Given the description of an element on the screen output the (x, y) to click on. 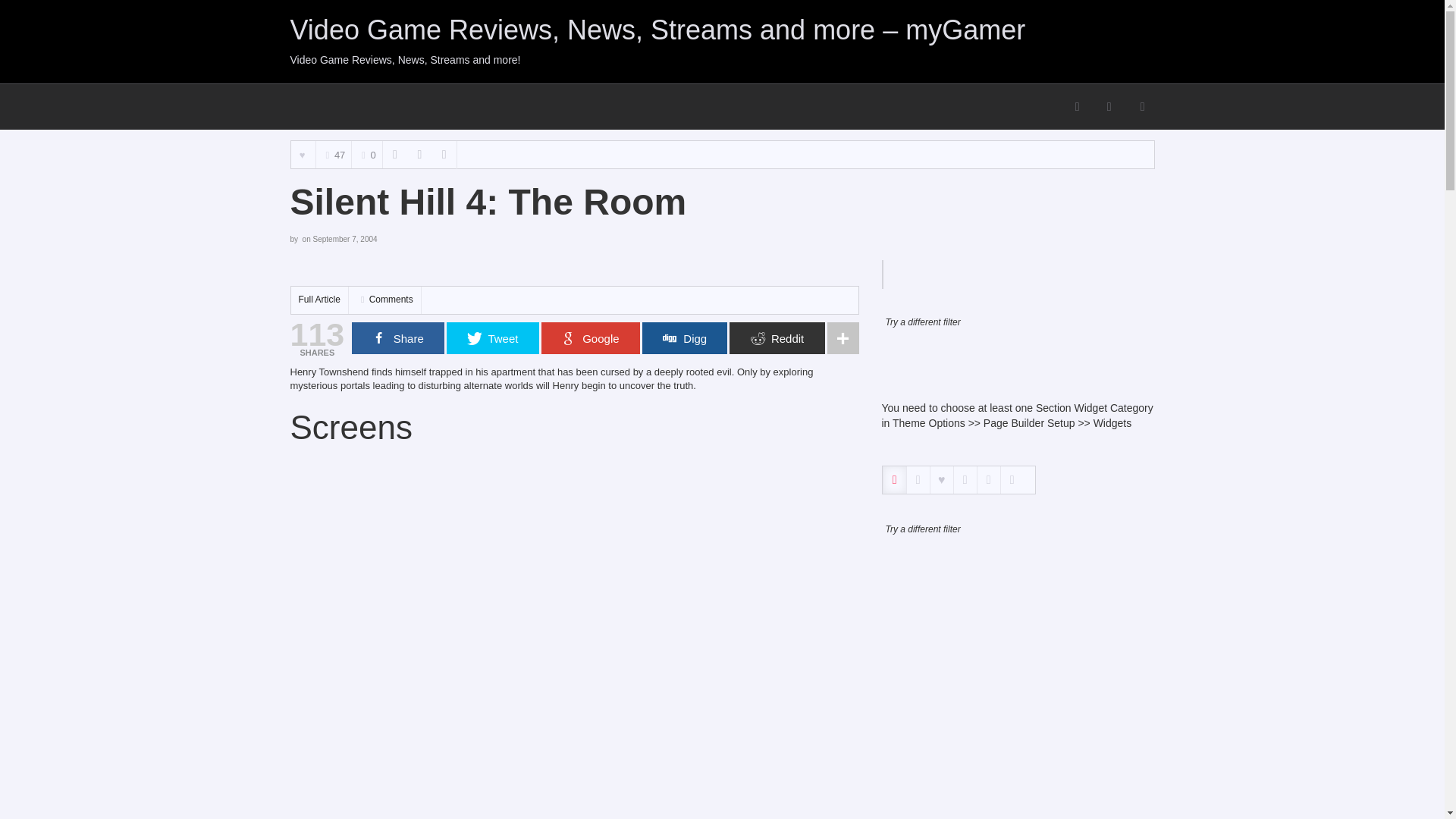
Comments (366, 154)
Views (333, 158)
0 (366, 154)
Likes (303, 154)
